Given the description of an element on the screen output the (x, y) to click on. 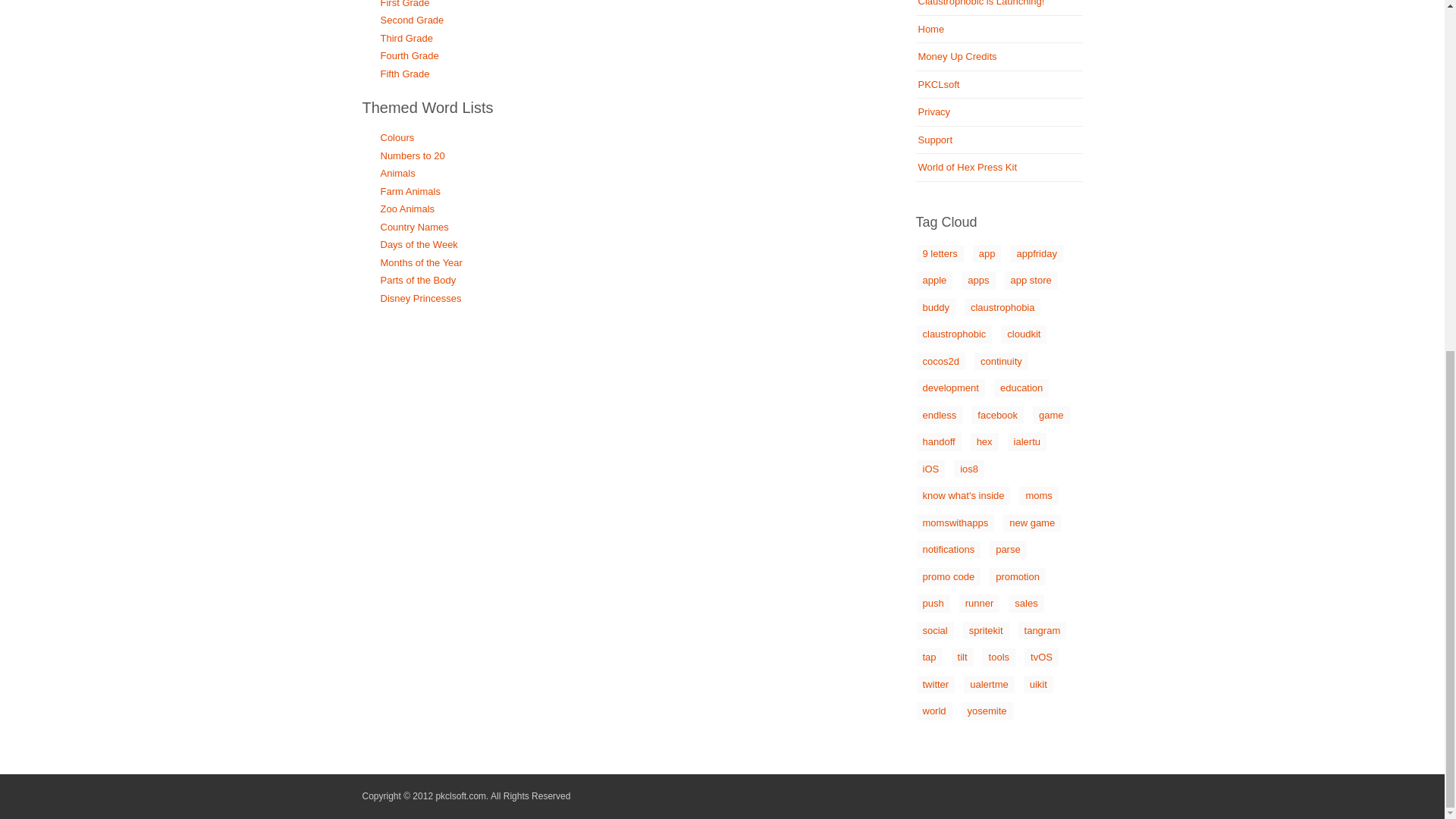
Fourth Grade (409, 55)
Animals (397, 173)
Colours (397, 137)
Days of the Week (419, 244)
Second Grade (412, 19)
Third Grade (406, 38)
Parts of the Body (418, 279)
Disney Princesses (420, 297)
Country Names (414, 226)
Farm Animals (410, 191)
